Given the description of an element on the screen output the (x, y) to click on. 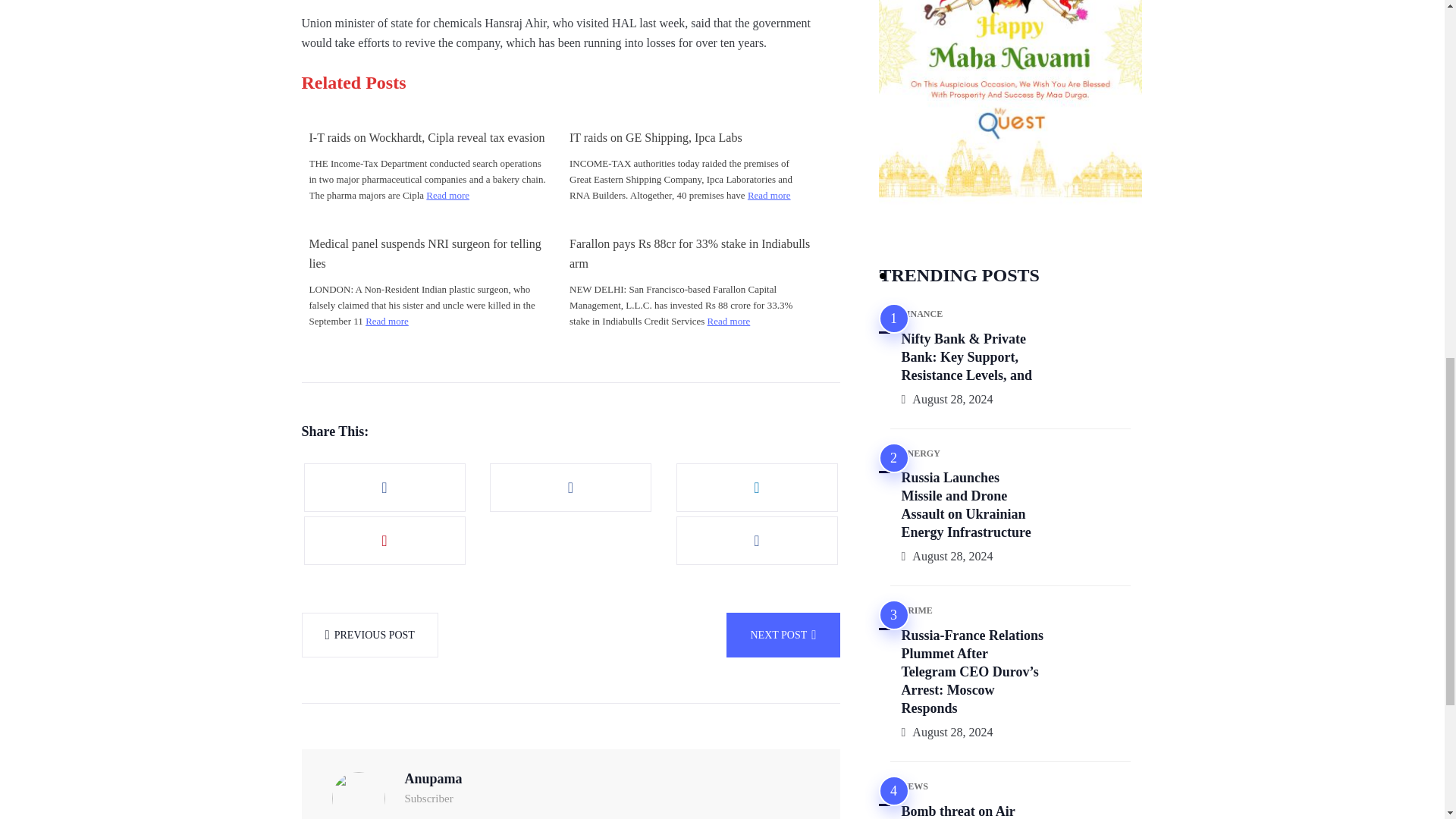
Read more (729, 320)
Medical panel suspends NRI surgeon for telling lies (429, 253)
Read more (769, 195)
Read more (387, 320)
IT raids on GE Shipping, Ipca Labs (690, 137)
I-T raids on Wockhardt, Cipla reveal tax evasion (429, 137)
Medical panel suspends NRI surgeon for telling lies (429, 253)
I-T raids on Wockhardt, Cipla reveal tax evasion (429, 137)
Read more (447, 195)
